Given the description of an element on the screen output the (x, y) to click on. 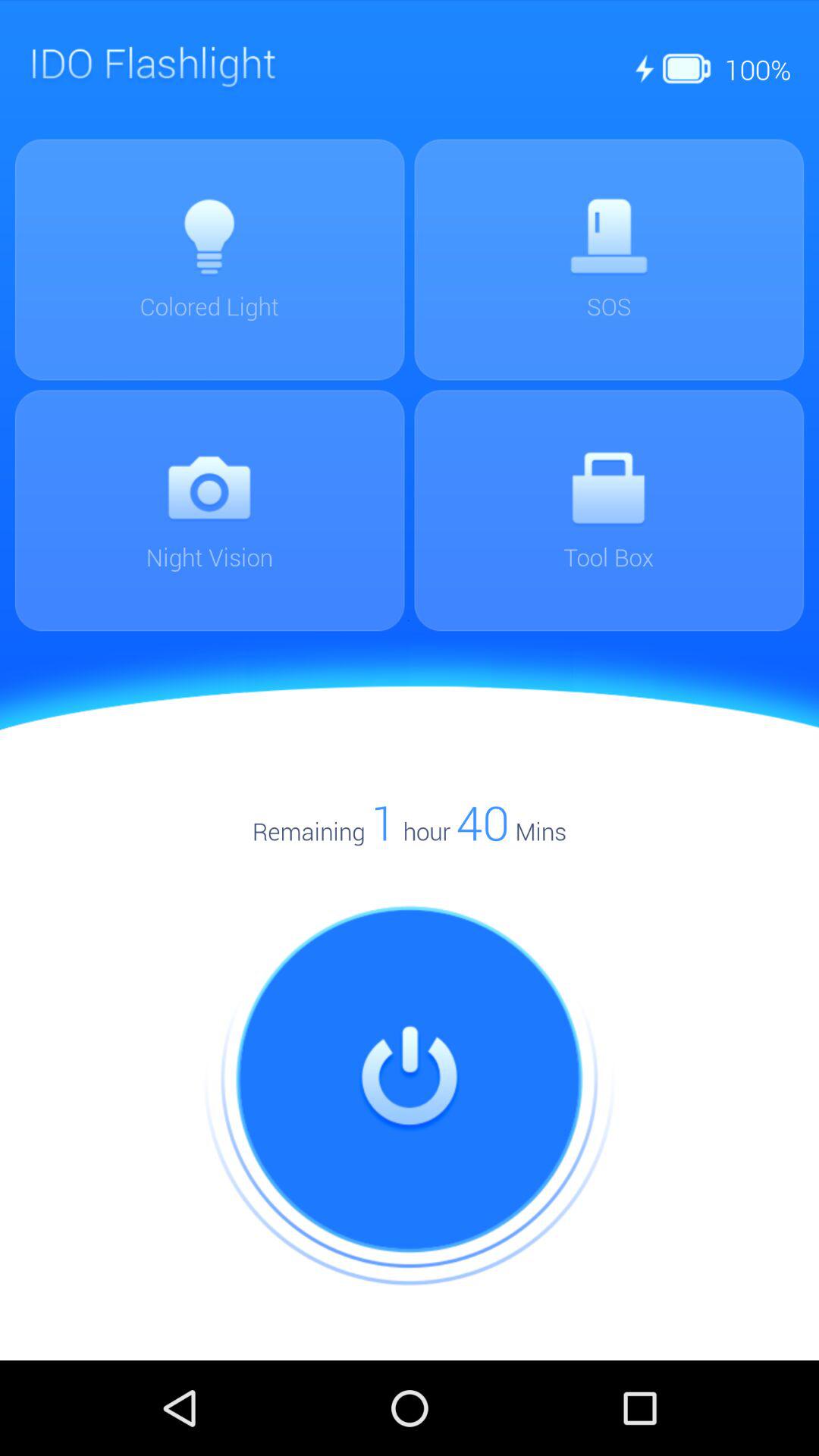
turn off (409, 1079)
